Given the description of an element on the screen output the (x, y) to click on. 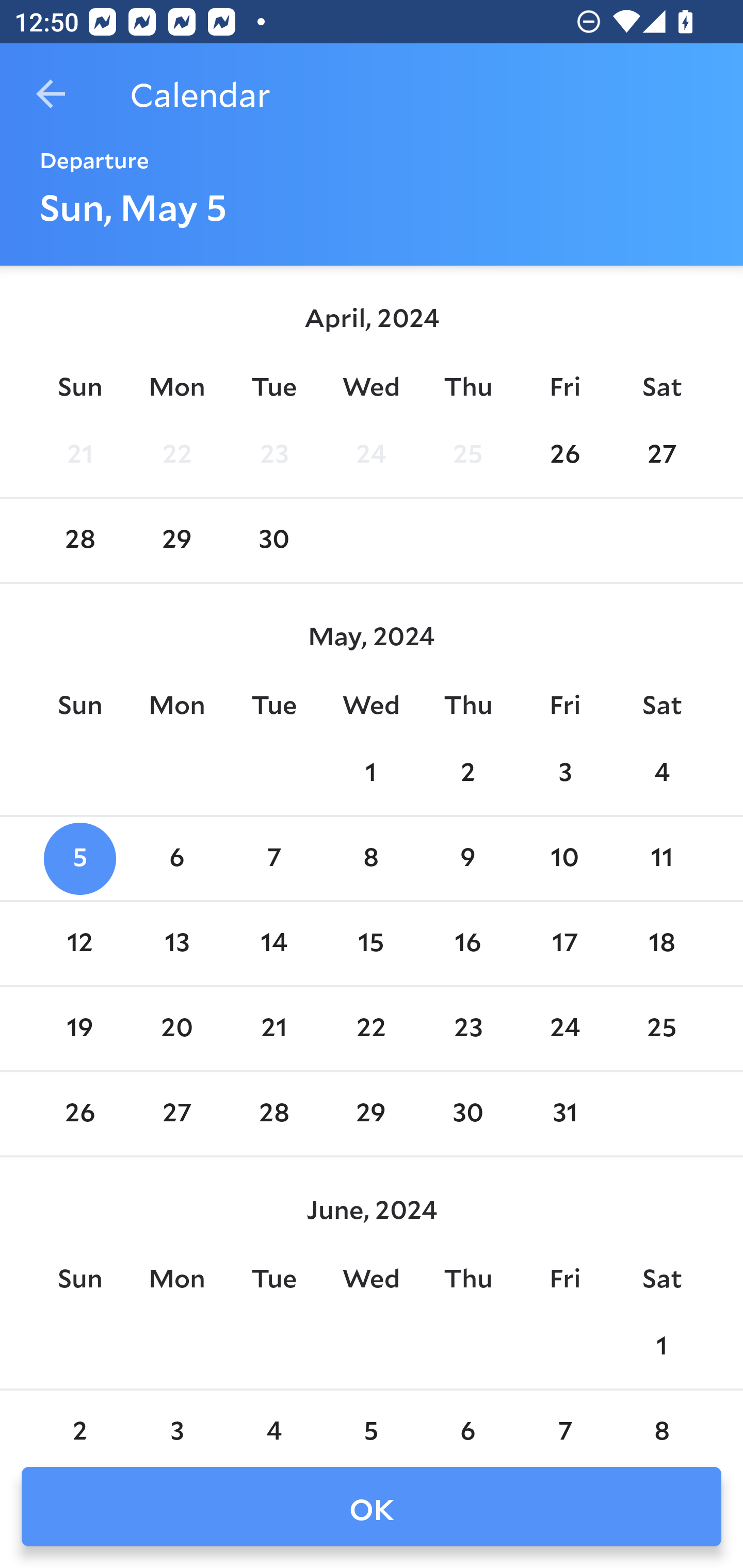
Navigate up (50, 93)
21 (79, 454)
22 (177, 454)
23 (273, 454)
24 (371, 454)
25 (467, 454)
26 (565, 454)
27 (661, 454)
28 (79, 540)
29 (177, 540)
30 (273, 540)
1 (371, 772)
2 (467, 772)
3 (565, 772)
4 (661, 772)
5 (79, 859)
6 (177, 859)
7 (273, 859)
8 (371, 859)
9 (467, 859)
10 (565, 859)
11 (661, 859)
12 (79, 943)
13 (177, 943)
14 (273, 943)
15 (371, 943)
16 (467, 943)
17 (565, 943)
18 (661, 943)
19 (79, 1028)
20 (177, 1028)
21 (273, 1028)
22 (371, 1028)
23 (467, 1028)
24 (565, 1028)
25 (661, 1028)
26 (79, 1114)
27 (177, 1114)
28 (273, 1114)
29 (371, 1114)
30 (467, 1114)
31 (565, 1114)
1 (661, 1346)
2 (79, 1420)
3 (177, 1420)
4 (273, 1420)
5 (371, 1420)
6 (467, 1420)
7 (565, 1420)
8 (661, 1420)
OK (371, 1506)
